Given the description of an element on the screen output the (x, y) to click on. 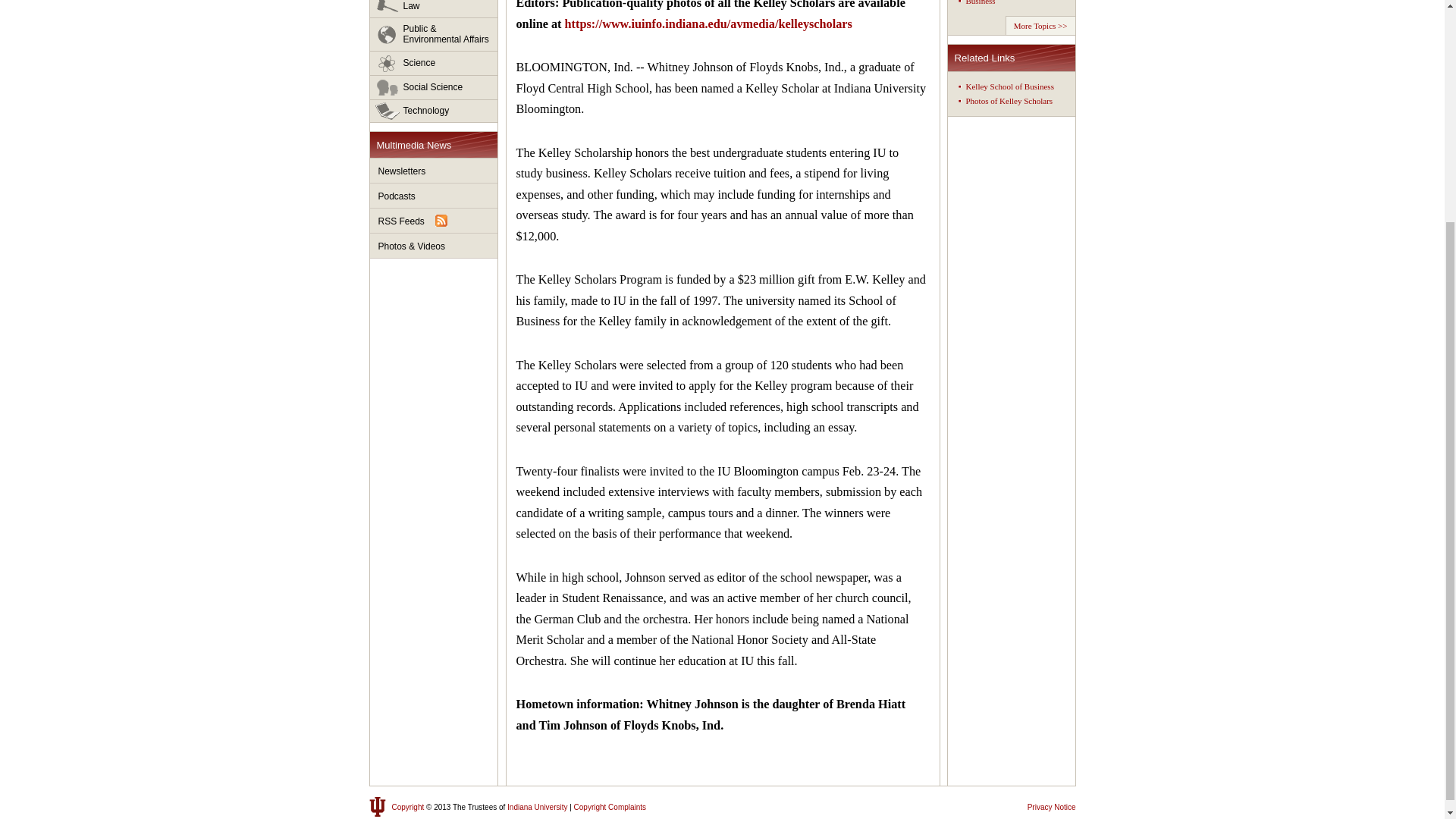
Podcasts (433, 195)
RSS Feeds (433, 220)
Social Science (433, 87)
Science (433, 63)
Newsletters (433, 170)
Technology (433, 110)
Law (433, 9)
